Given the description of an element on the screen output the (x, y) to click on. 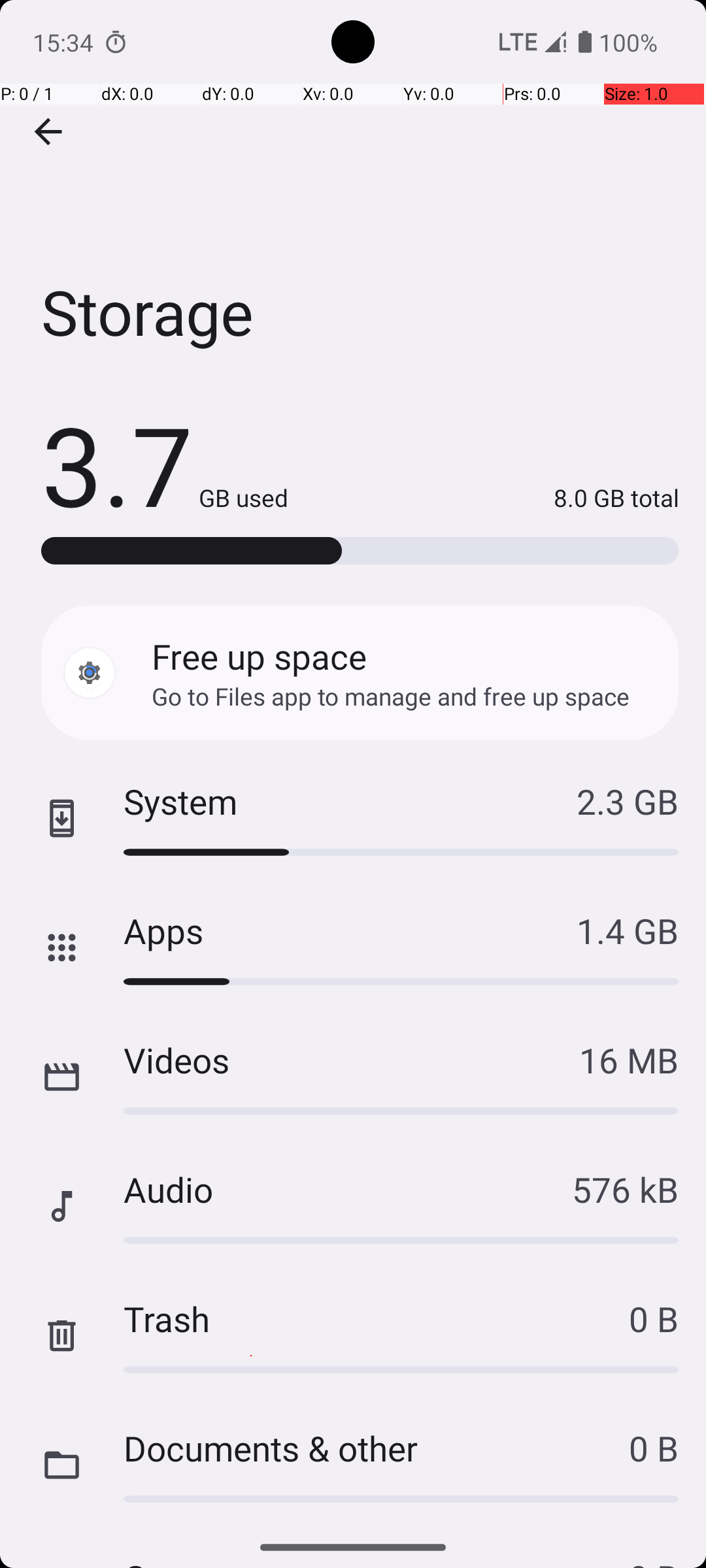
3.7 GB used Element type: android.widget.TextView (164, 463)
1.4 GB Element type: android.widget.TextView (627, 930)
16 MB Element type: android.widget.TextView (628, 1059)
576 kB Element type: android.widget.TextView (624, 1189)
